Given the description of an element on the screen output the (x, y) to click on. 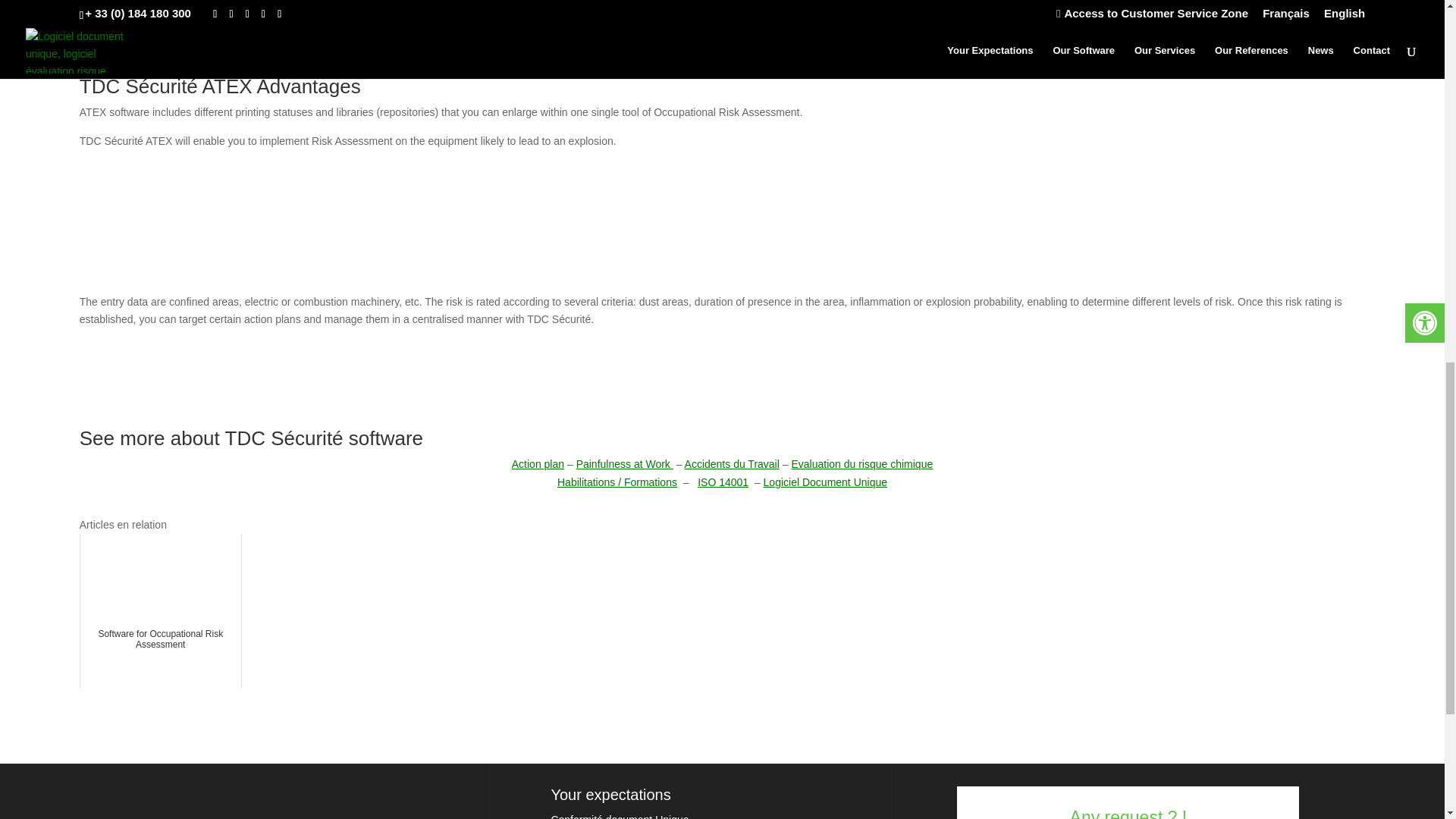
Le logiciel Document Unique (824, 481)
Software for Occupational Risk Assessment (160, 610)
Action plan (538, 463)
Accidents du Travail (731, 463)
Accidents du Travail (731, 463)
Evaluation du risque chimique (861, 463)
Painfulness at Work  (624, 463)
Logiciel Document Unique (824, 481)
ISO 14001 (722, 481)
